Given the description of an element on the screen output the (x, y) to click on. 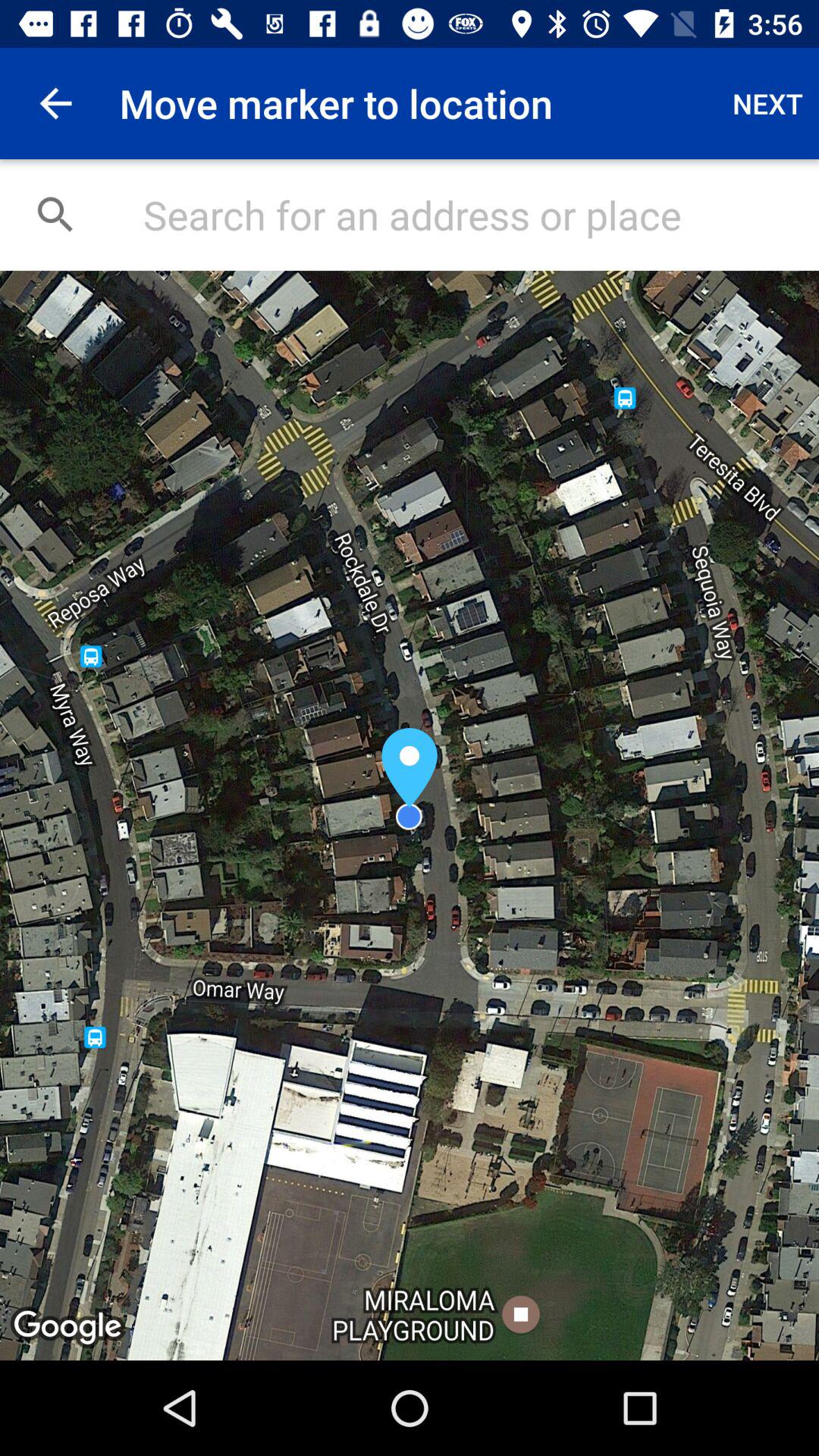
choose the icon to the right of the move marker to (767, 103)
